Given the description of an element on the screen output the (x, y) to click on. 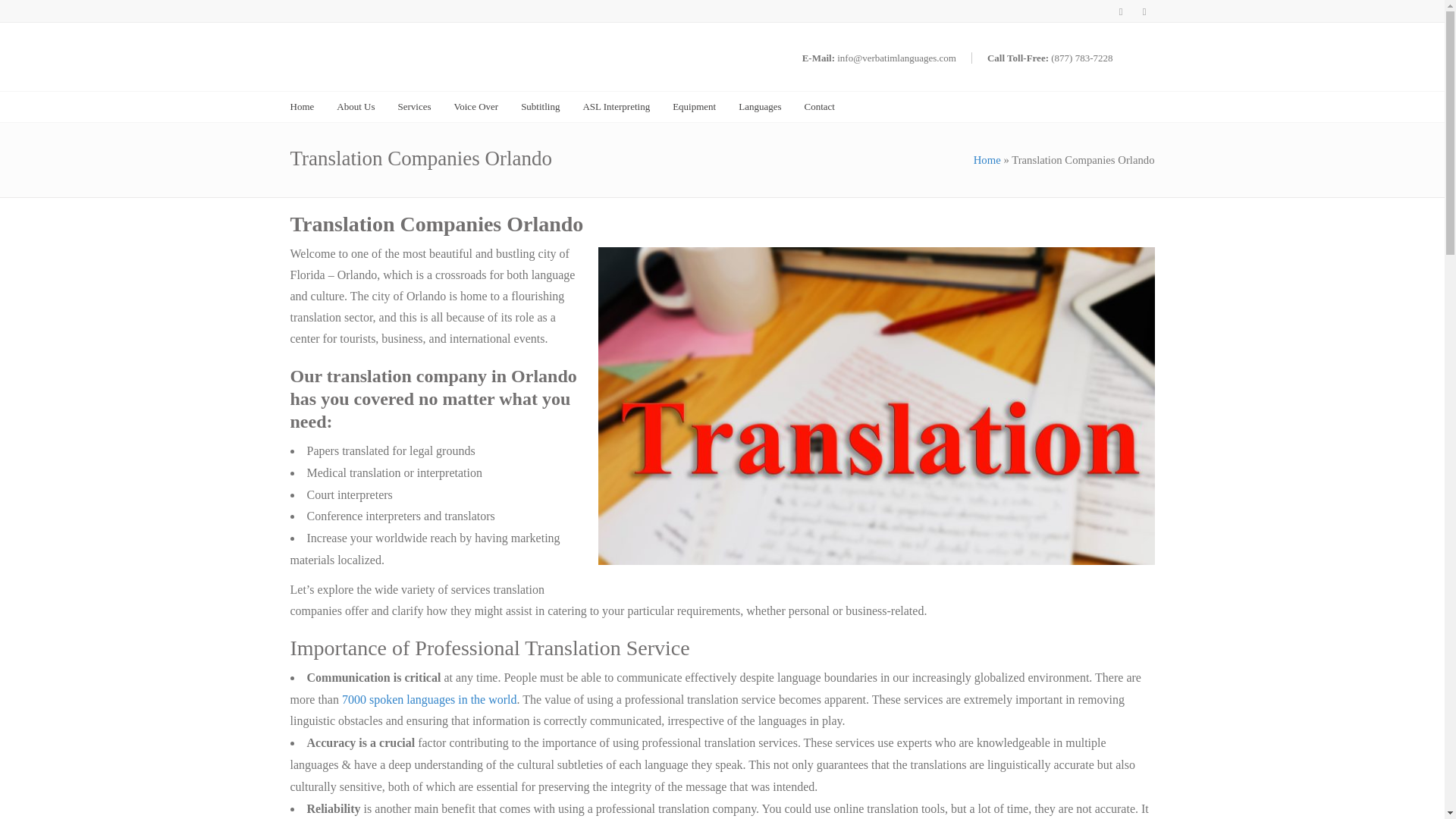
Getting to know us (355, 106)
About Us (355, 106)
See what we have to offer. (413, 106)
